Given the description of an element on the screen output the (x, y) to click on. 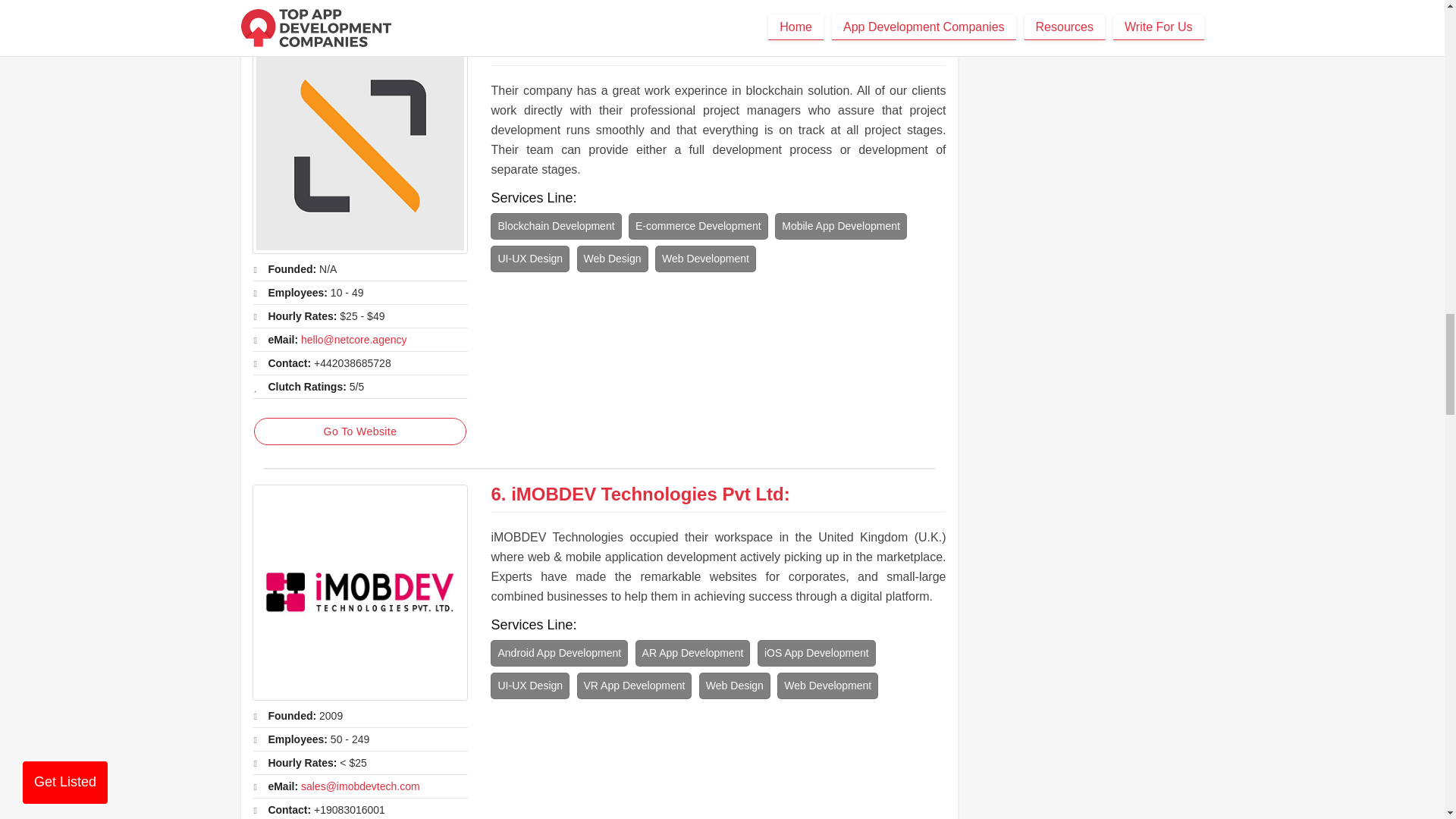
Go To Website (359, 431)
Netcore (359, 145)
Netcore (544, 46)
iMOBDEV Technologies Pvt Ltd (359, 592)
iMOBDEV Technologies Pvt Ltd (647, 494)
